Given the description of an element on the screen output the (x, y) to click on. 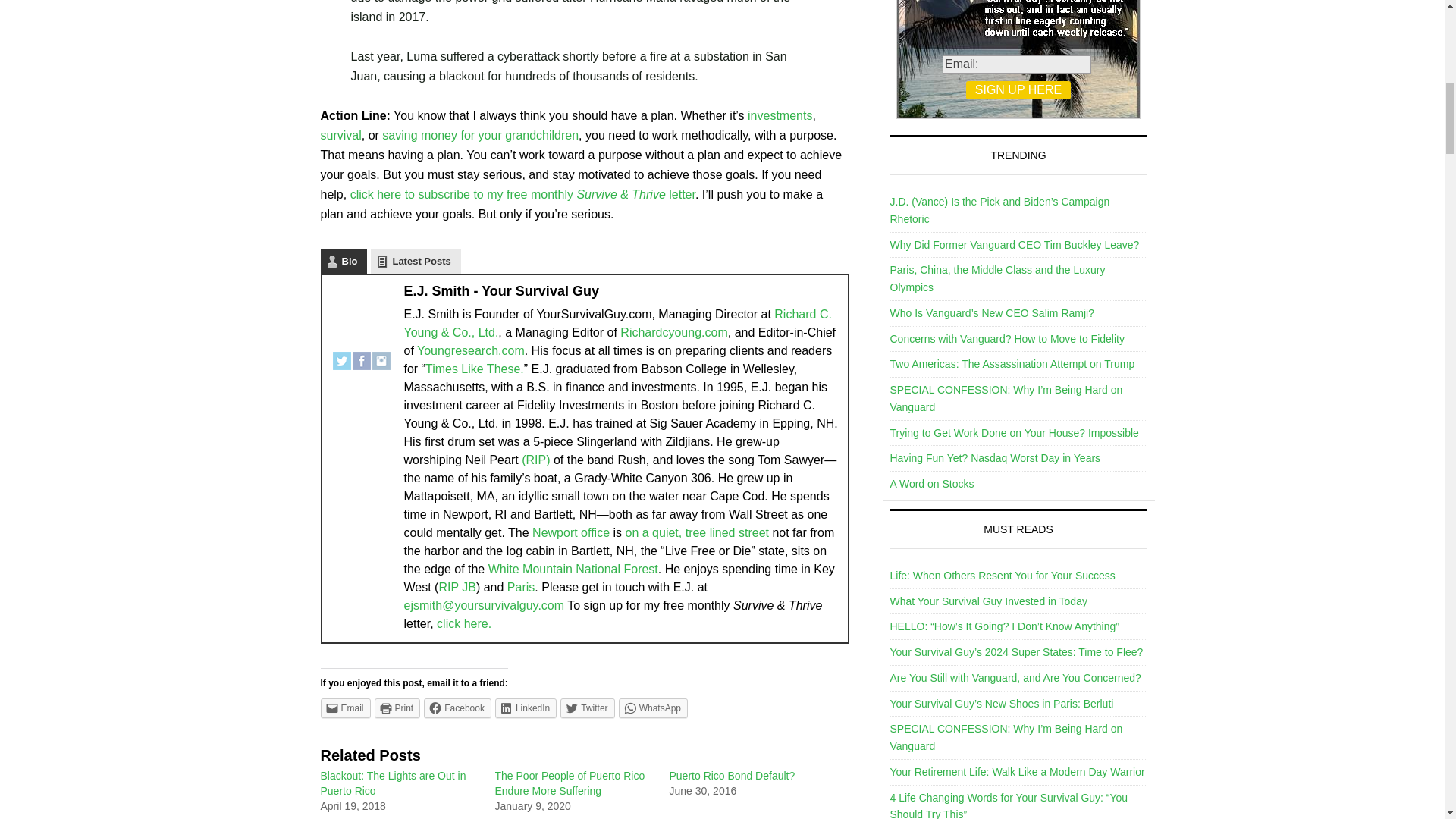
Click to share on WhatsApp (652, 708)
Instagram (380, 354)
Click to print (397, 708)
Facebook (360, 354)
Blackout: The Lights are Out in Puerto Rico (392, 782)
Click to email this to a friend (344, 708)
Puerto Rico Bond Default? (731, 775)
Email: (1016, 64)
The Poor People of Puerto Rico Endure More Suffering (570, 782)
Click to share on Facebook (457, 708)
Click to share on LinkedIn (525, 708)
Sign Up Here (1018, 90)
Click to share on Twitter (587, 708)
Twitter (340, 354)
